Given the description of an element on the screen output the (x, y) to click on. 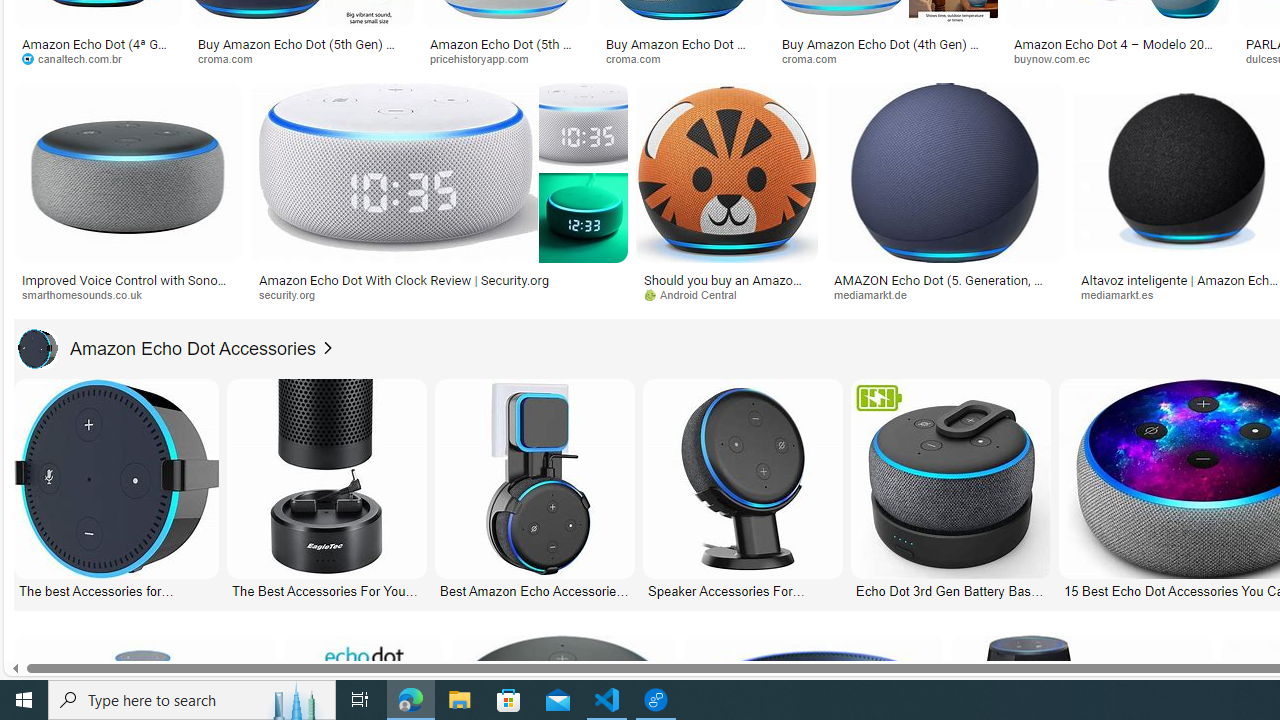
Android Central (726, 295)
canaltech.com.br (97, 58)
Amazon Echo Dot With Clock Review | Security.org (438, 279)
Amazon Echo Dot Accessories (37, 348)
